Given the description of an element on the screen output the (x, y) to click on. 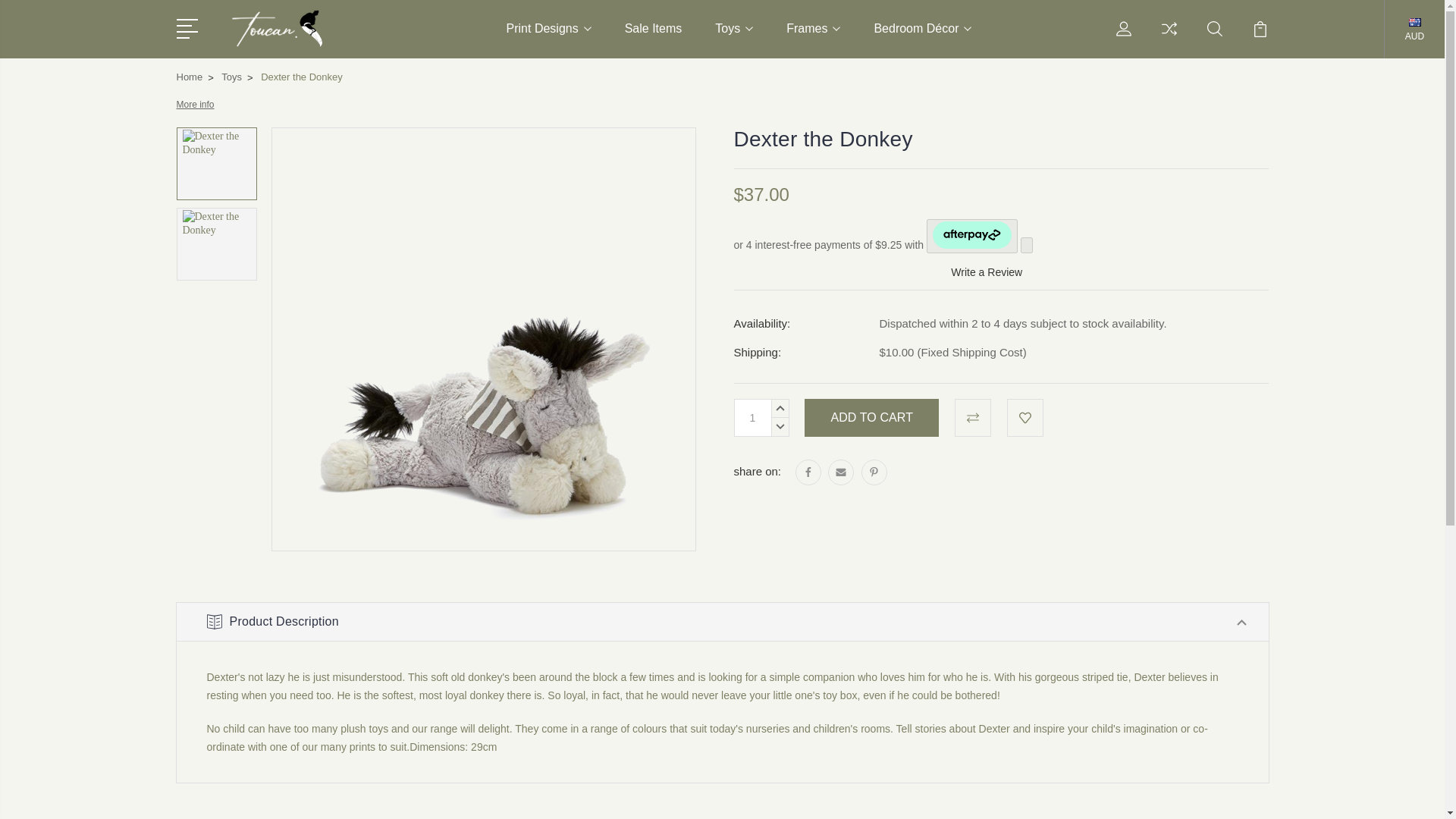
Toys (733, 37)
Dexter the Donkey (216, 243)
1 (752, 417)
Print Designs (548, 37)
Sale Items (653, 37)
Frames (813, 37)
Dexter the Donkey (216, 162)
Add to Cart (872, 417)
Toucan (312, 28)
